Given the description of an element on the screen output the (x, y) to click on. 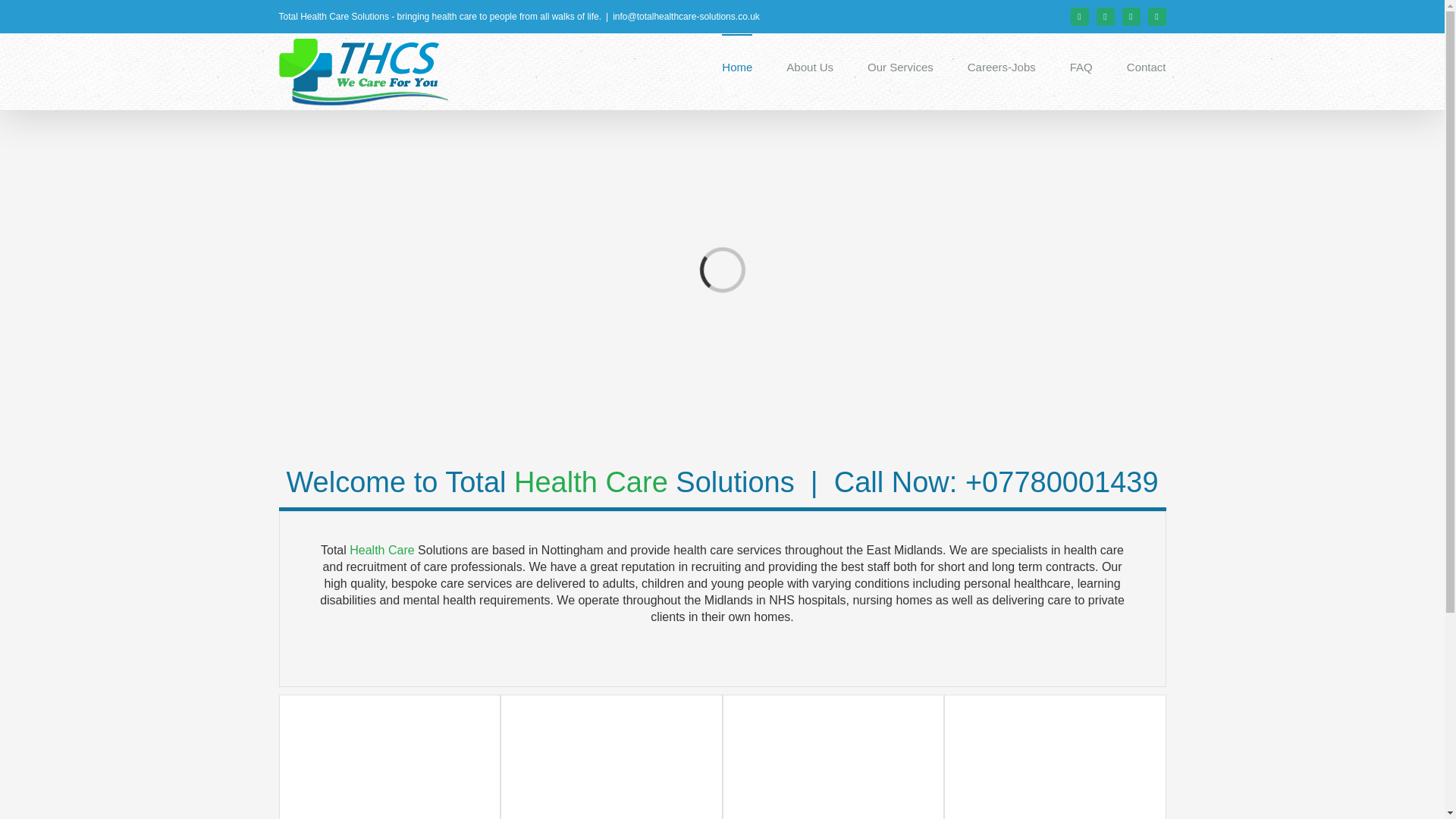
Our Services (900, 66)
Twitter (1105, 16)
Facebook (1079, 16)
Careers-Jobs (1001, 66)
Facebook (1079, 16)
Twitter (1105, 16)
LinkedIn (1157, 16)
LinkedIn (1157, 16)
